Given the description of an element on the screen output the (x, y) to click on. 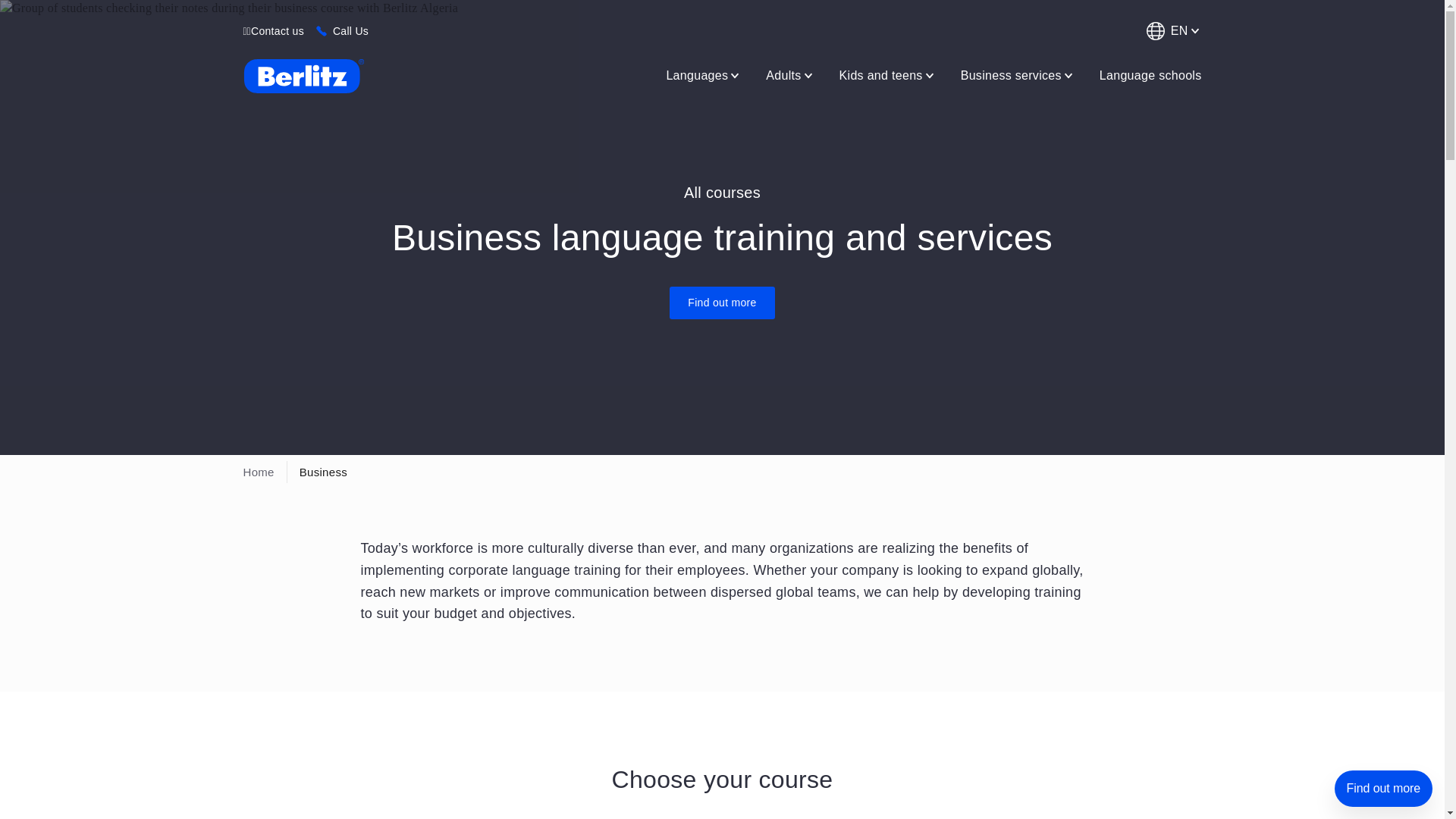
Berlitz (303, 75)
Berlitz Algeria (302, 76)
EN (1171, 30)
Languages (703, 75)
Adults (790, 75)
Call Us (350, 30)
Business services (1018, 75)
Kids and teens (887, 75)
